Given the description of an element on the screen output the (x, y) to click on. 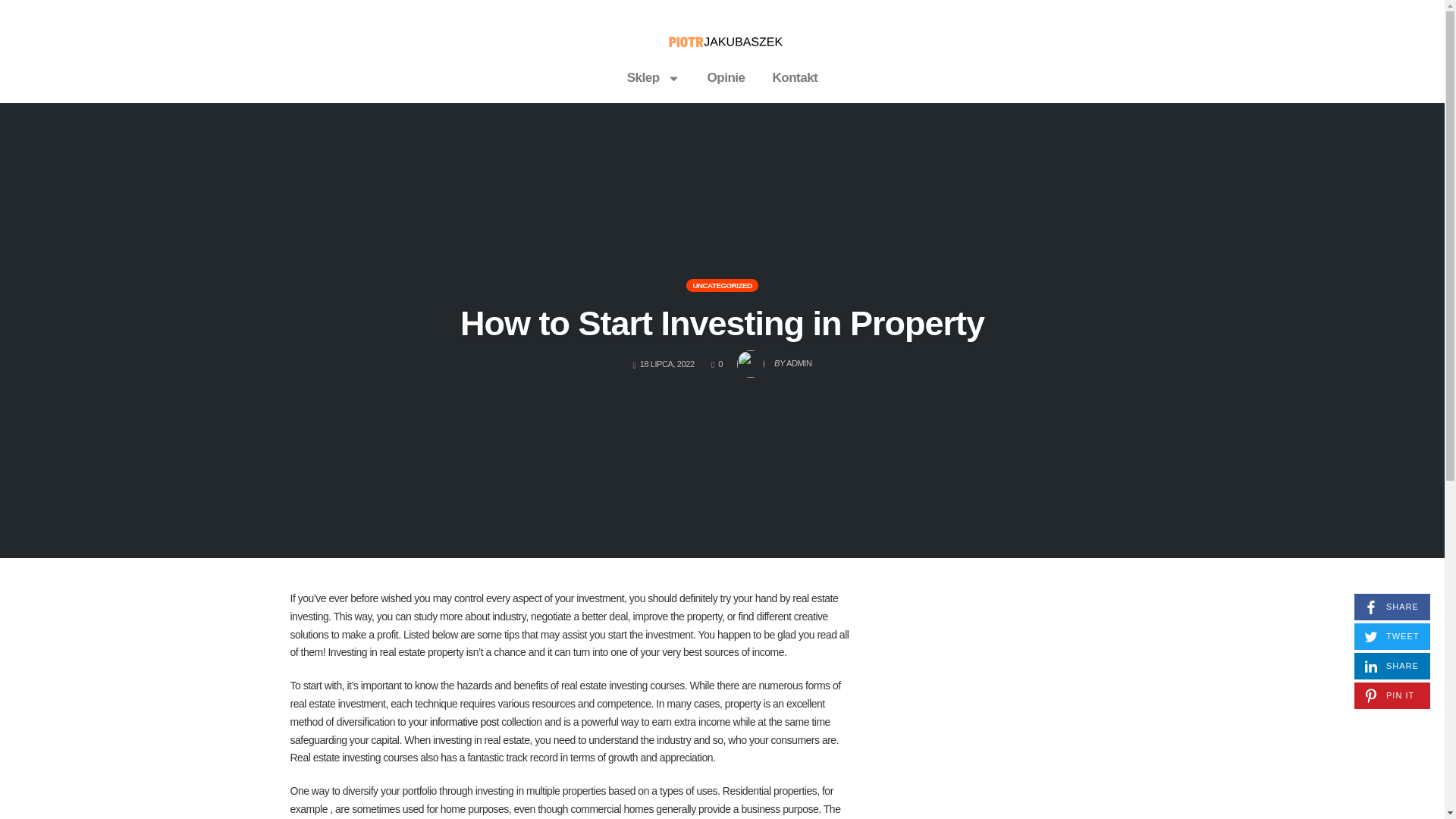
BY ADMIN (773, 359)
informative post (1391, 606)
How to Start Investing in Property (1391, 665)
Kontakt (464, 721)
Sklep (716, 363)
Opinie (722, 323)
UNCATEGORIZED (794, 77)
